Given the description of an element on the screen output the (x, y) to click on. 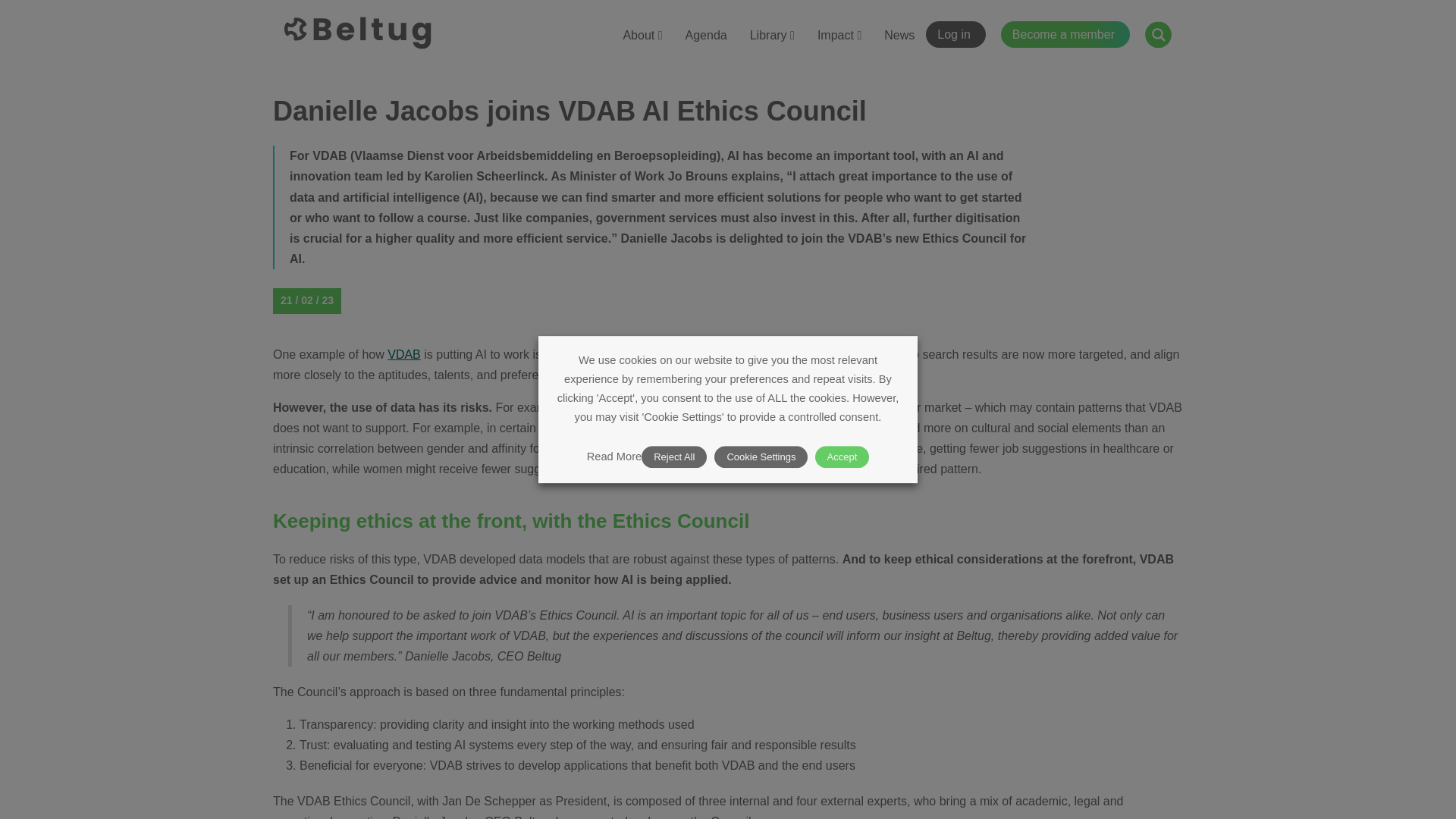
Impact (839, 35)
Agenda (706, 35)
Become a member (1065, 34)
Beltug (359, 36)
About (641, 35)
Library (772, 35)
Log in (955, 34)
